Given the description of an element on the screen output the (x, y) to click on. 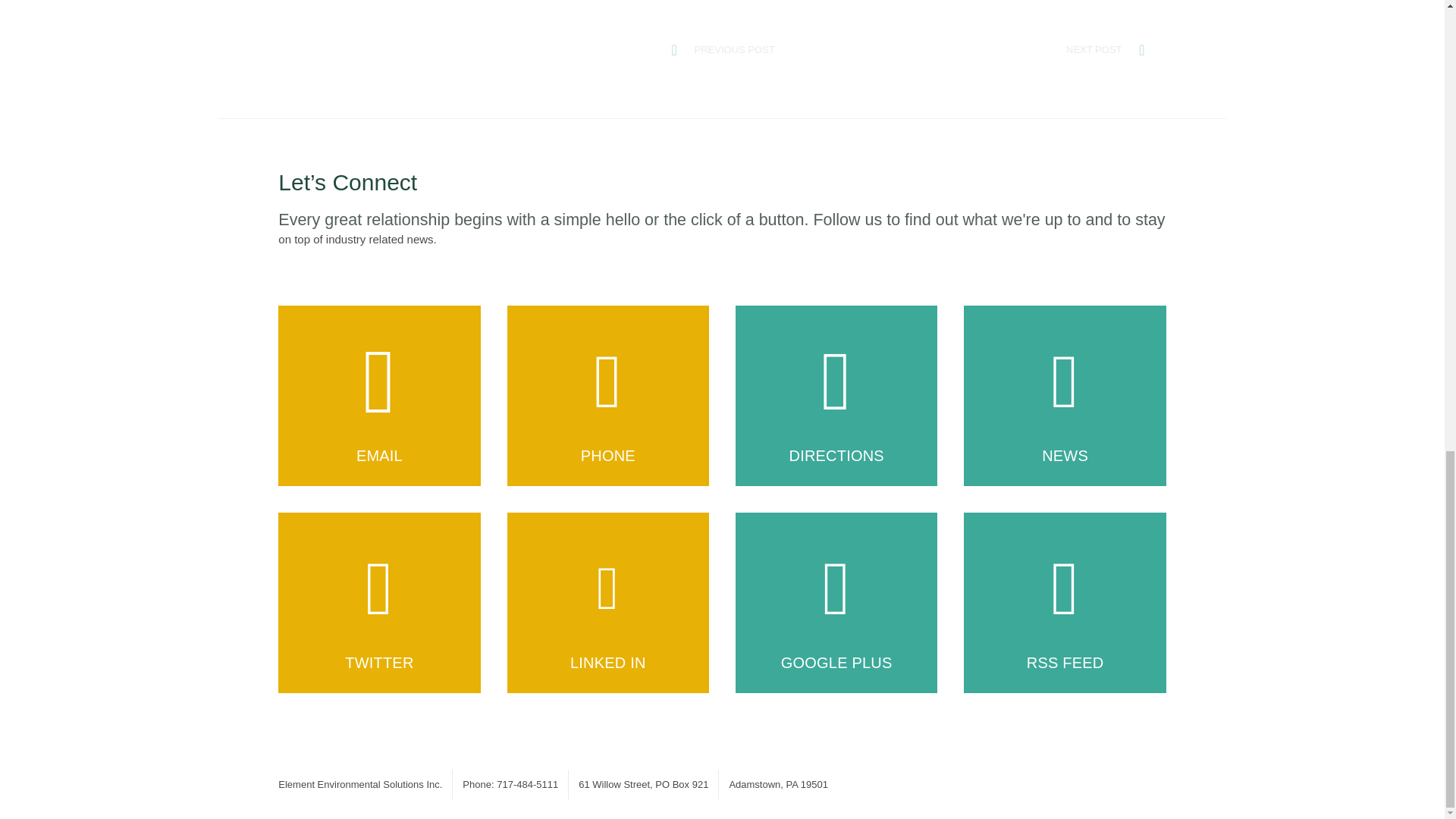
PHONE (607, 395)
PREVIOUS POST (734, 49)
DIRECTIONS (836, 395)
RSS FEED (1064, 602)
NEXT POST (1093, 49)
GOOGLE PLUS (836, 602)
EMAIL (379, 395)
LINKED IN (607, 602)
NEWS (1064, 395)
TWITTER (379, 602)
